Given the description of an element on the screen output the (x, y) to click on. 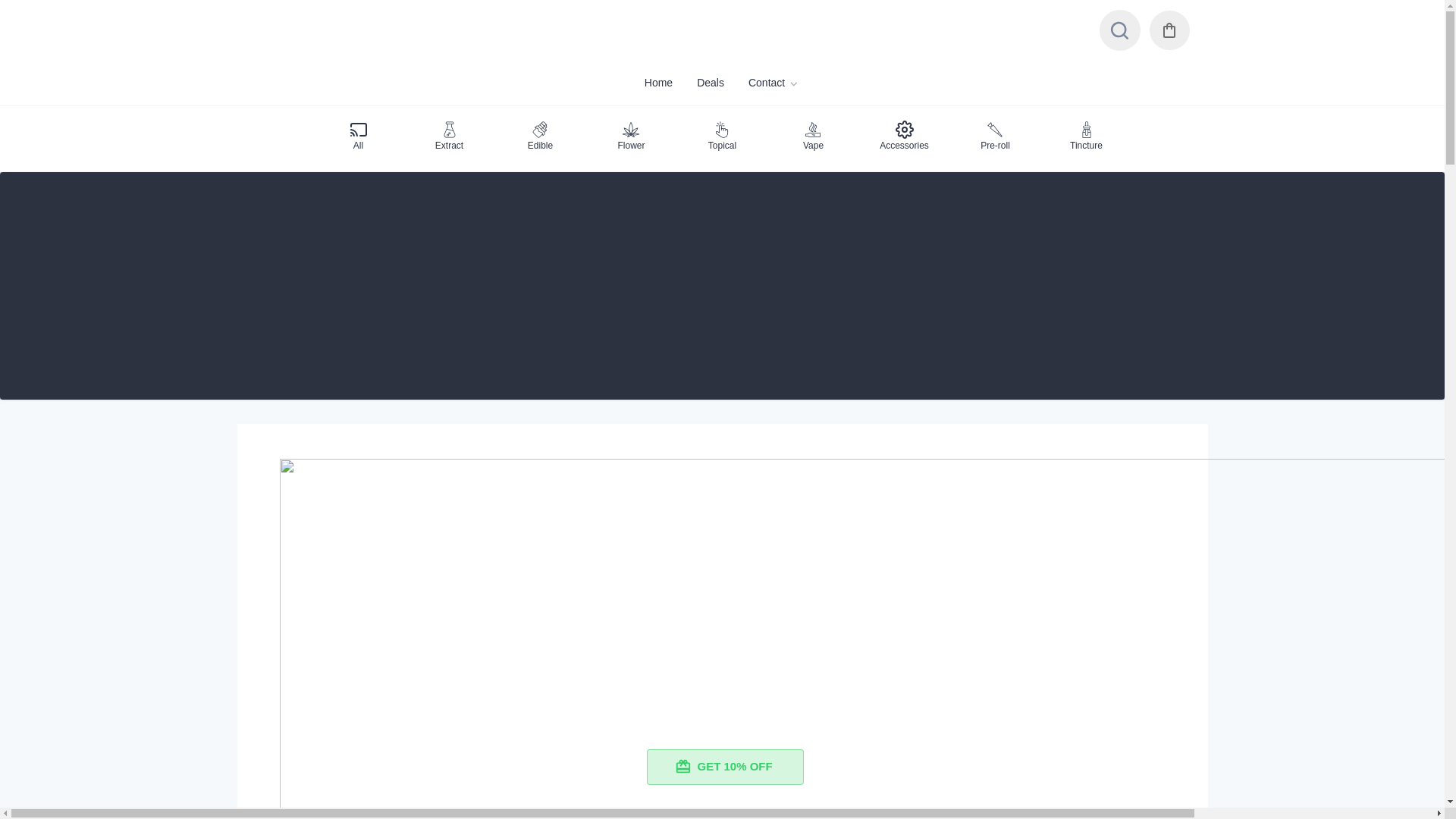
Extract (449, 136)
Topical (721, 136)
Deals (710, 82)
Tincture (1086, 136)
Flower (631, 136)
Vape (813, 136)
Accessories (903, 136)
Home (658, 82)
Edible (540, 136)
All (357, 136)
Pre-roll (994, 136)
